Given the description of an element on the screen output the (x, y) to click on. 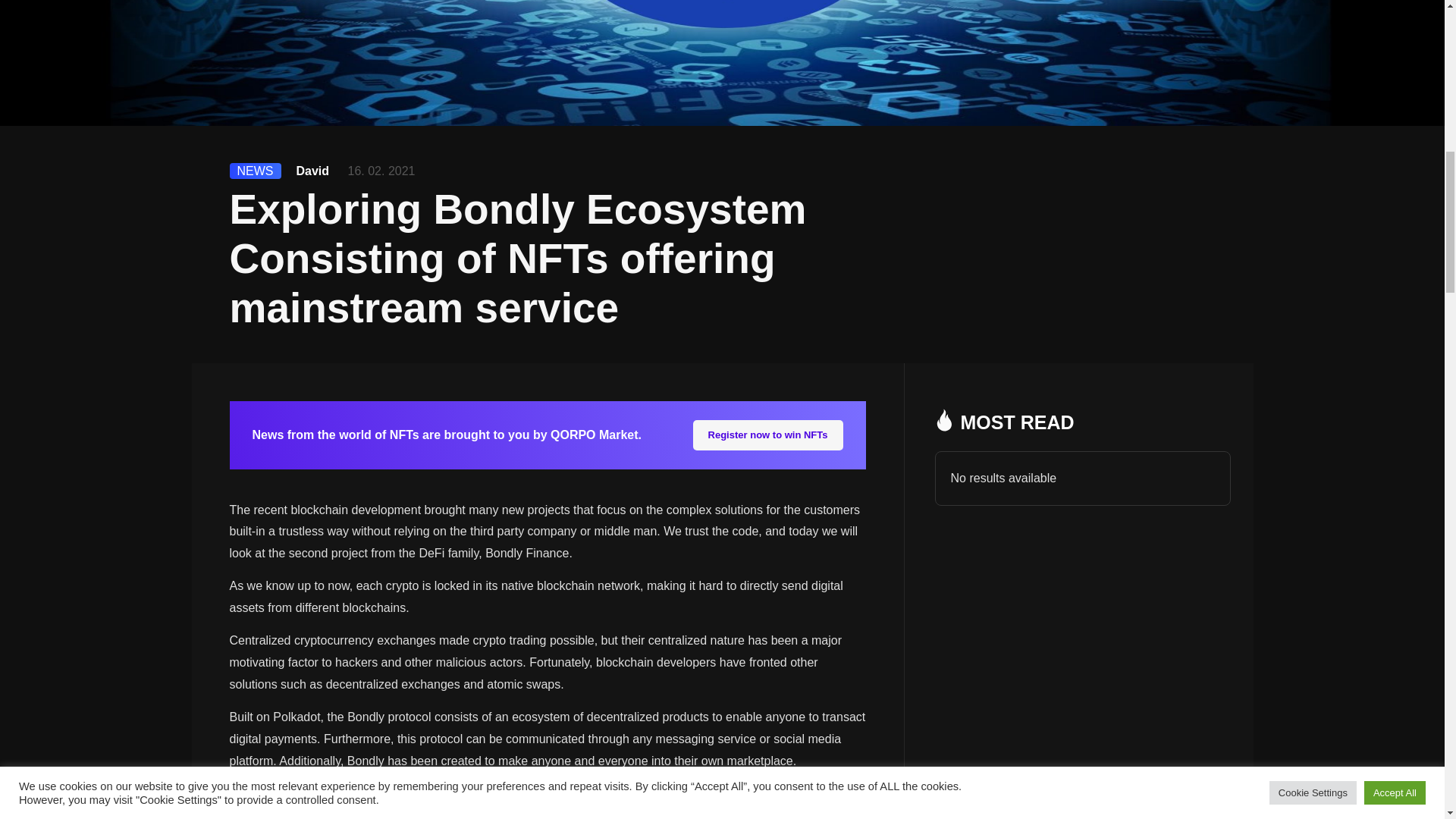
NEWS (254, 170)
Register now to win NFTs (768, 435)
